Given the description of an element on the screen output the (x, y) to click on. 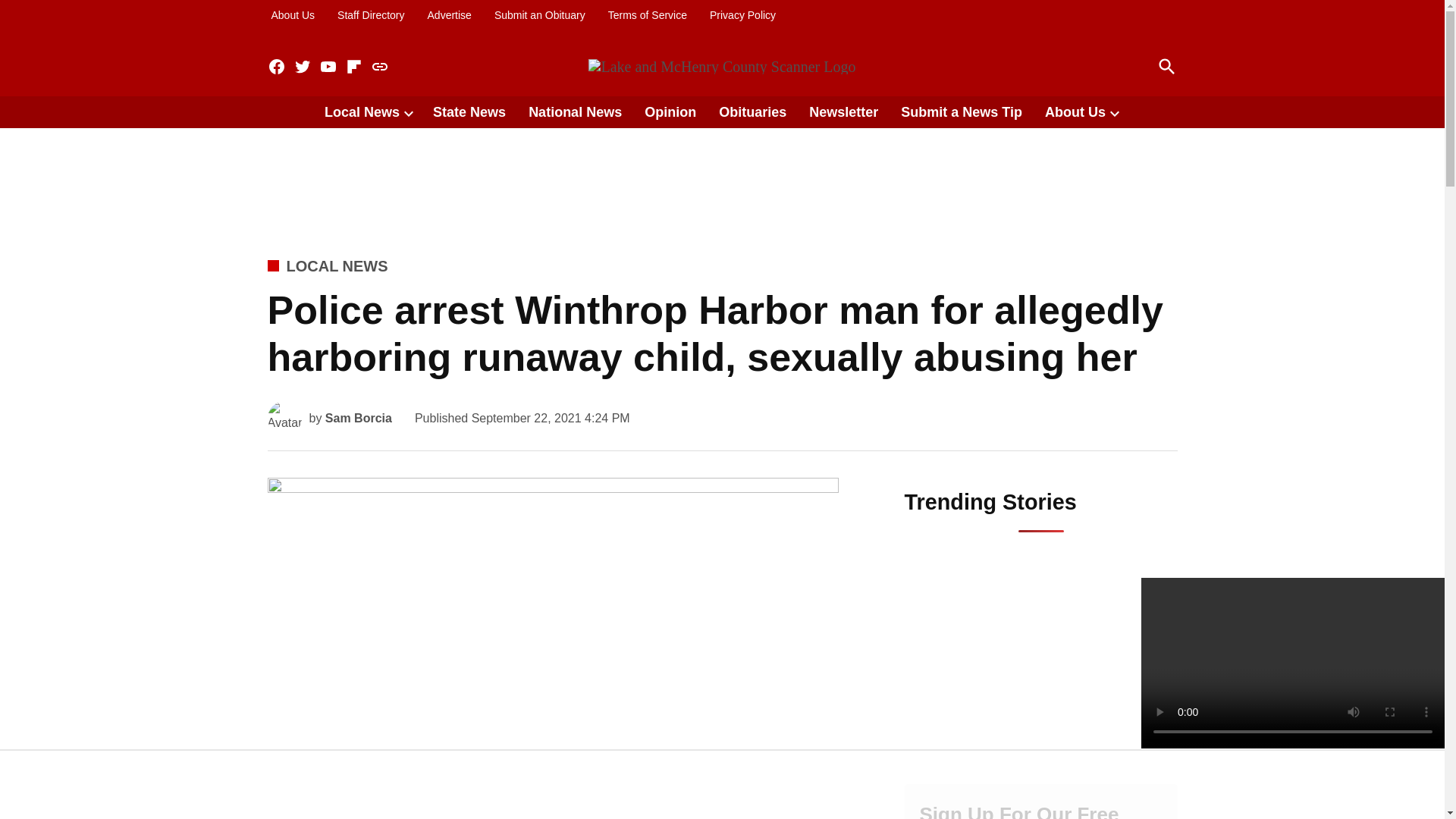
Submit an Obituary (539, 14)
Facebook (275, 66)
Privacy Policy (742, 14)
Advertise (449, 14)
Terms of Service (647, 14)
About Us (292, 14)
Staff Directory (370, 14)
